Given the description of an element on the screen output the (x, y) to click on. 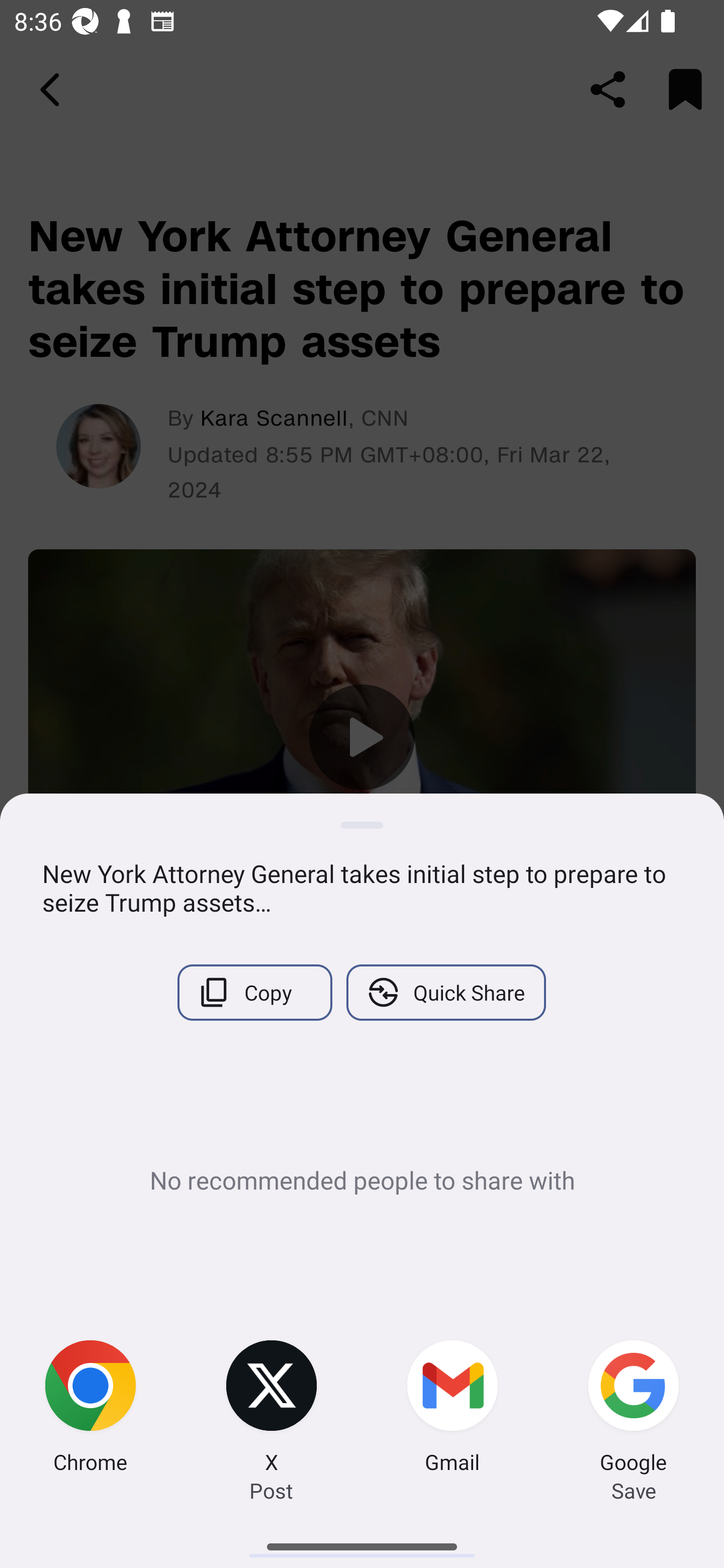
Copy (254, 992)
Quick Share (445, 992)
Chrome (90, 1409)
X Post (271, 1409)
Gmail (452, 1409)
Google Save (633, 1409)
